Given the description of an element on the screen output the (x, y) to click on. 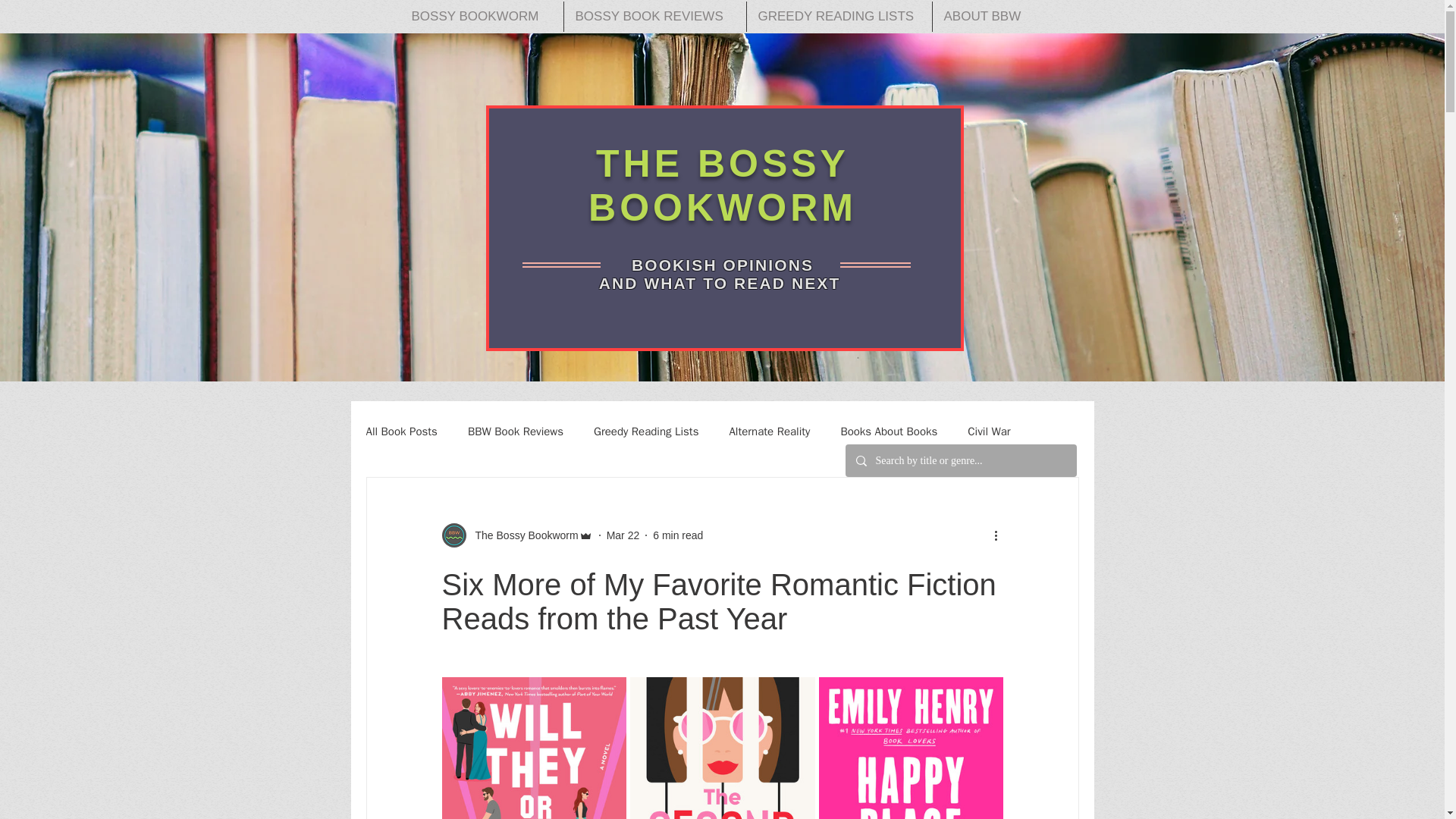
All Book Posts (400, 431)
GREEDY READING LISTS (838, 16)
THE BOSSY (721, 163)
Mar 22 (623, 535)
ABOUT BBW (987, 16)
BOSSY BOOK REVIEWS (654, 16)
AND WHAT TO READ NEXT  (722, 282)
Alternate Reality (769, 431)
BOSSY BOOKWORM (481, 16)
Greedy Reading Lists (646, 431)
